Given the description of an element on the screen output the (x, y) to click on. 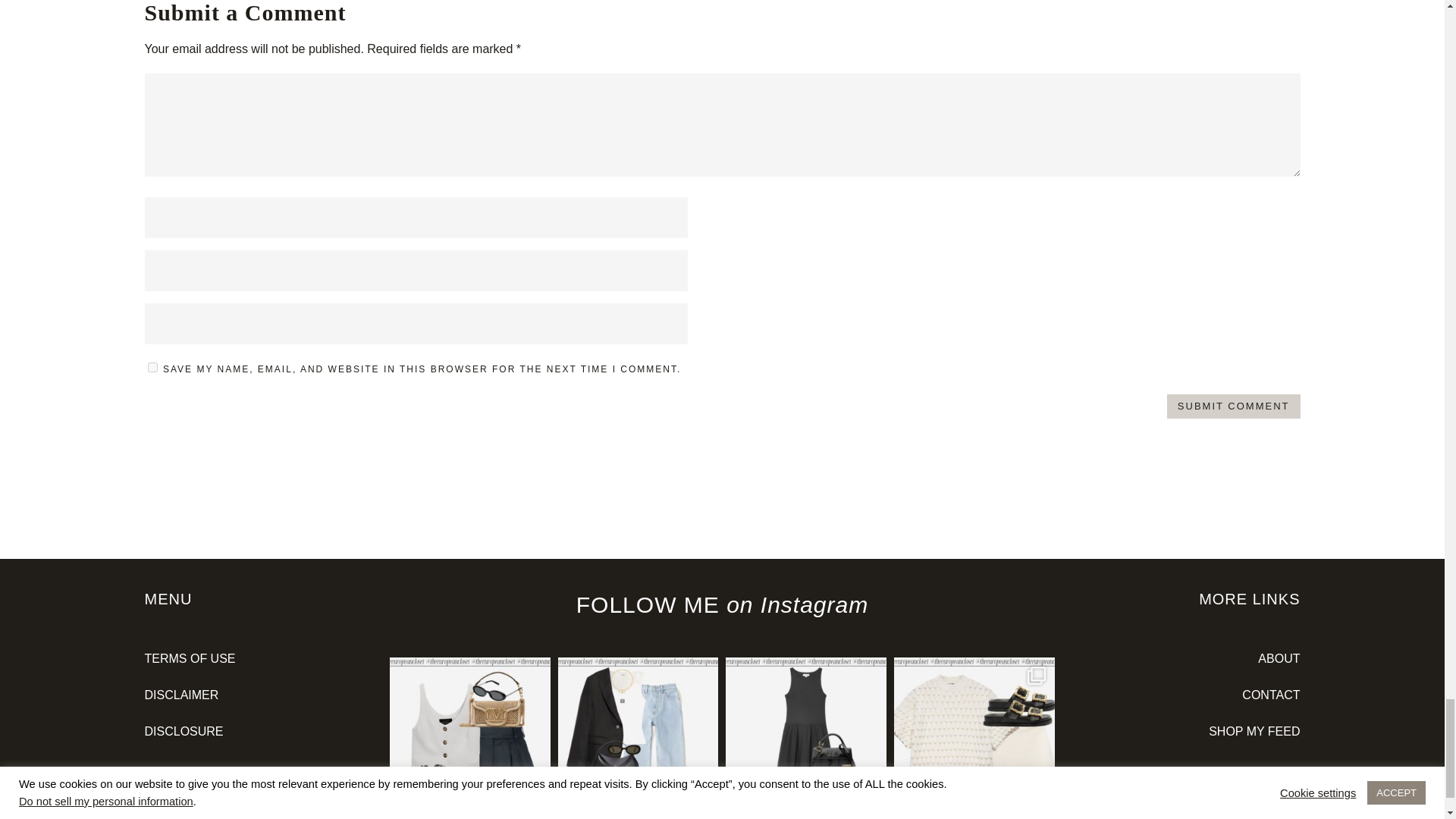
yes (152, 367)
